Given the description of an element on the screen output the (x, y) to click on. 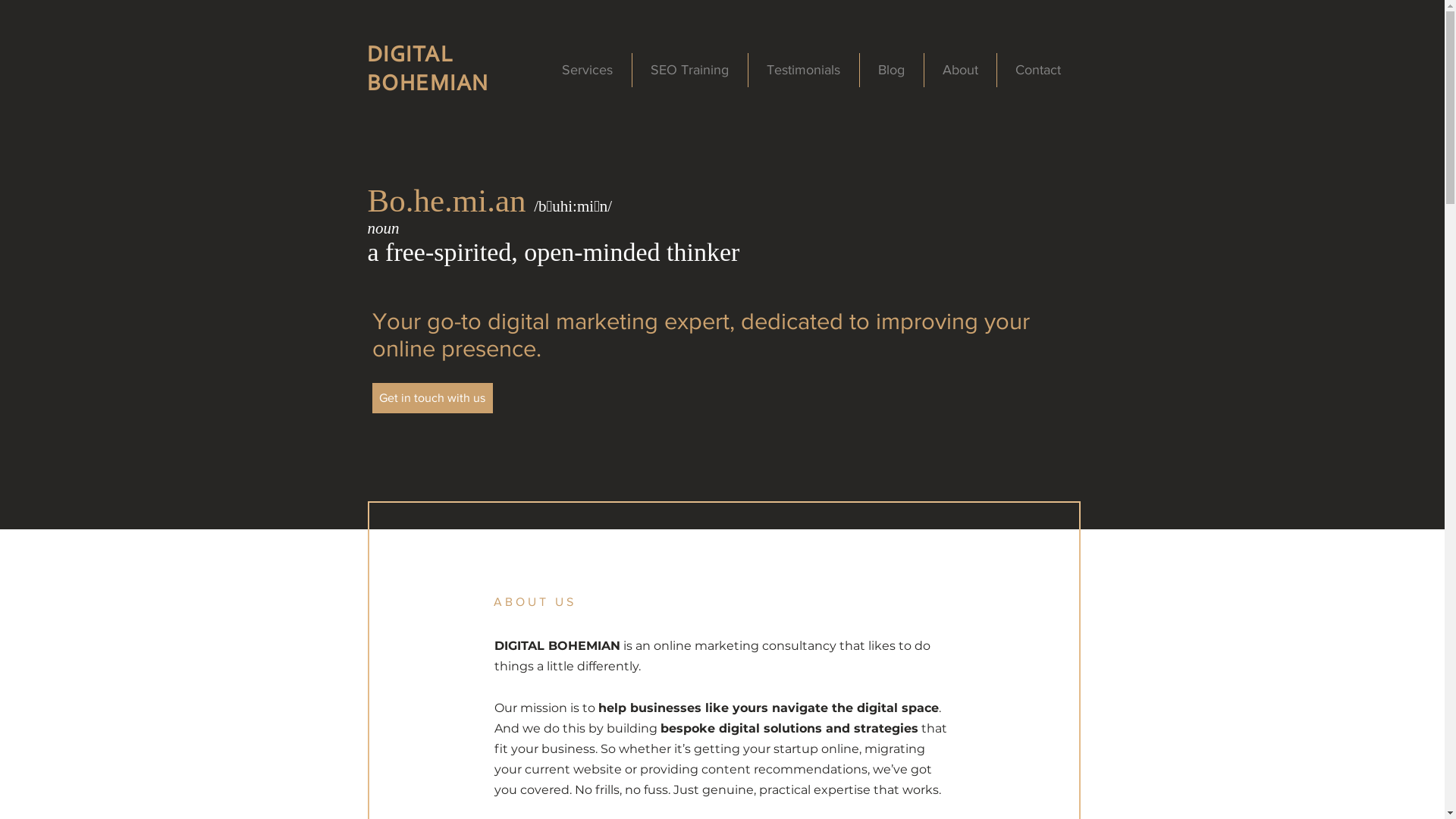
Get in touch with us Element type: text (431, 397)
Services Element type: text (586, 70)
Testimonials Element type: text (802, 70)
Contact Element type: text (1037, 70)
DIGITAL Element type: text (410, 55)
About Element type: text (959, 70)
Blog Element type: text (891, 70)
